Given the description of an element on the screen output the (x, y) to click on. 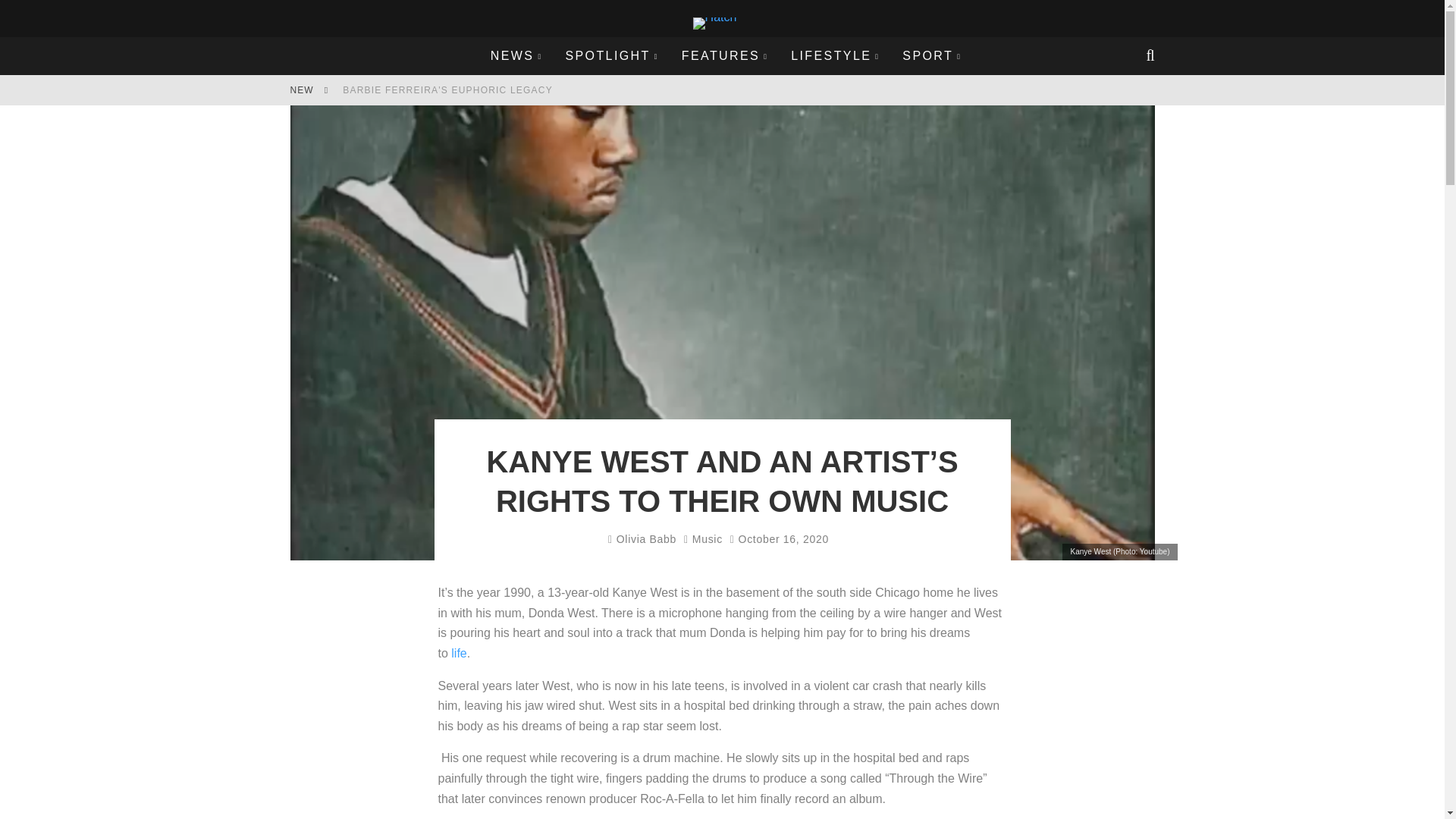
NEWS (516, 55)
SPOTLIGHT (611, 55)
FEATURES (723, 55)
